Given the description of an element on the screen output the (x, y) to click on. 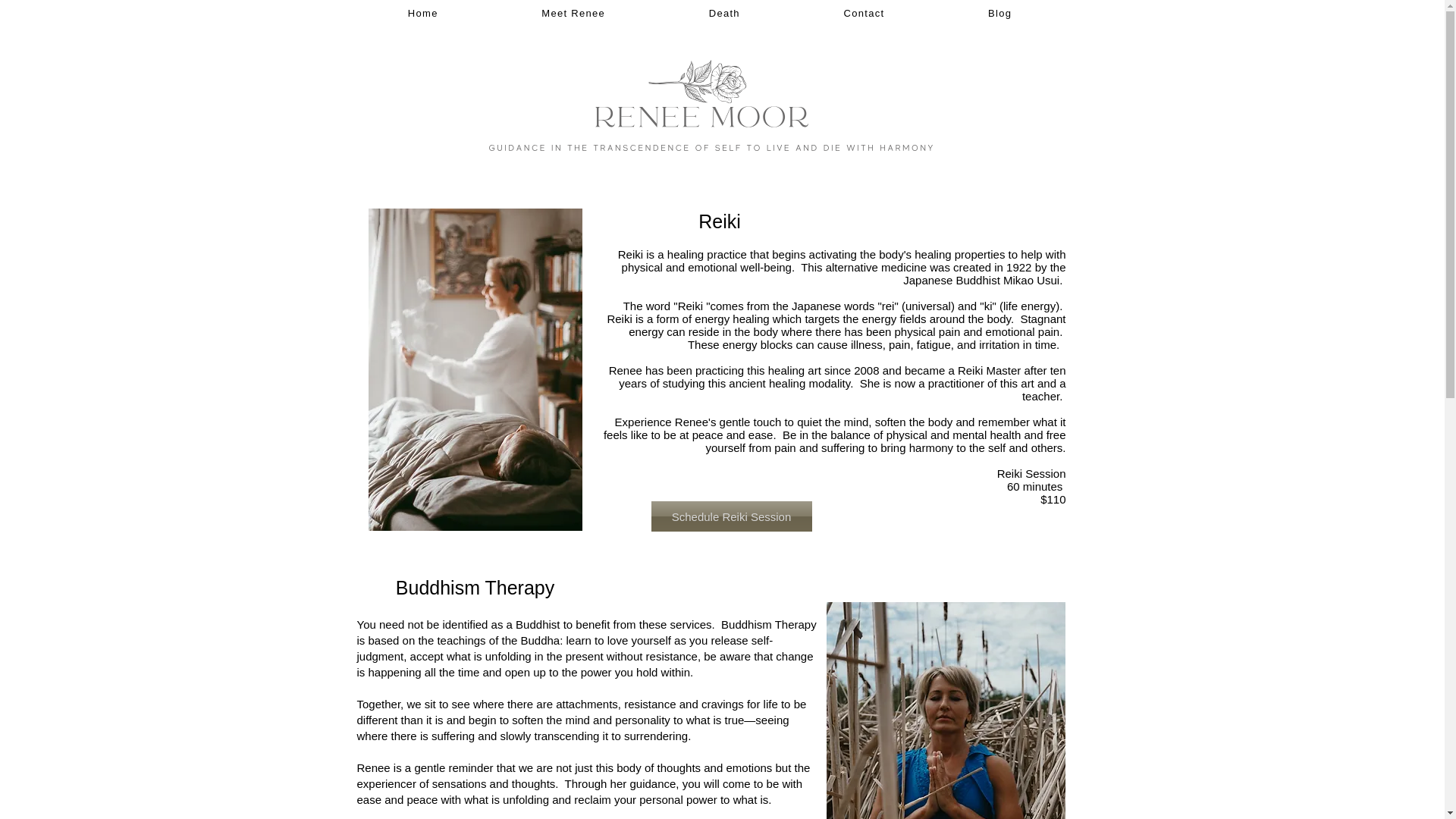
Home (422, 13)
Contact (863, 13)
Meet Renee (573, 13)
Blog (1000, 13)
Death (724, 13)
Schedule Reiki Session (730, 516)
